Given the description of an element on the screen output the (x, y) to click on. 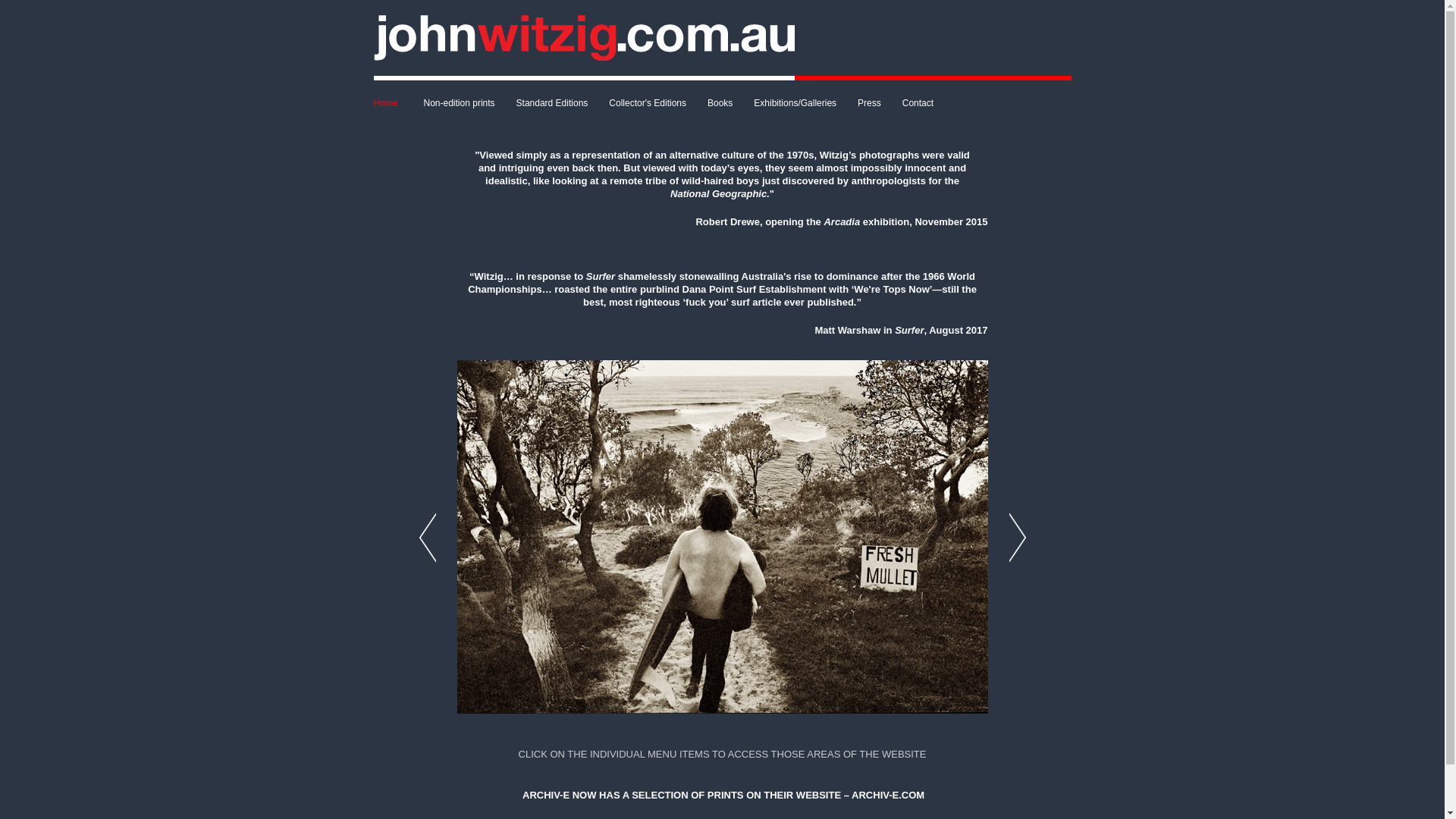
Non-edition prints Element type: text (459, 102)
Home Element type: text (392, 102)
Standard Editions Element type: text (552, 102)
Contact Element type: text (917, 102)
Exhibitions/Galleries Element type: text (795, 102)
ARCHIV-E.COM Element type: text (887, 794)
Books Element type: text (719, 102)
Press Element type: text (869, 102)
Collector's Editions Element type: text (647, 102)
